Given the description of an element on the screen output the (x, y) to click on. 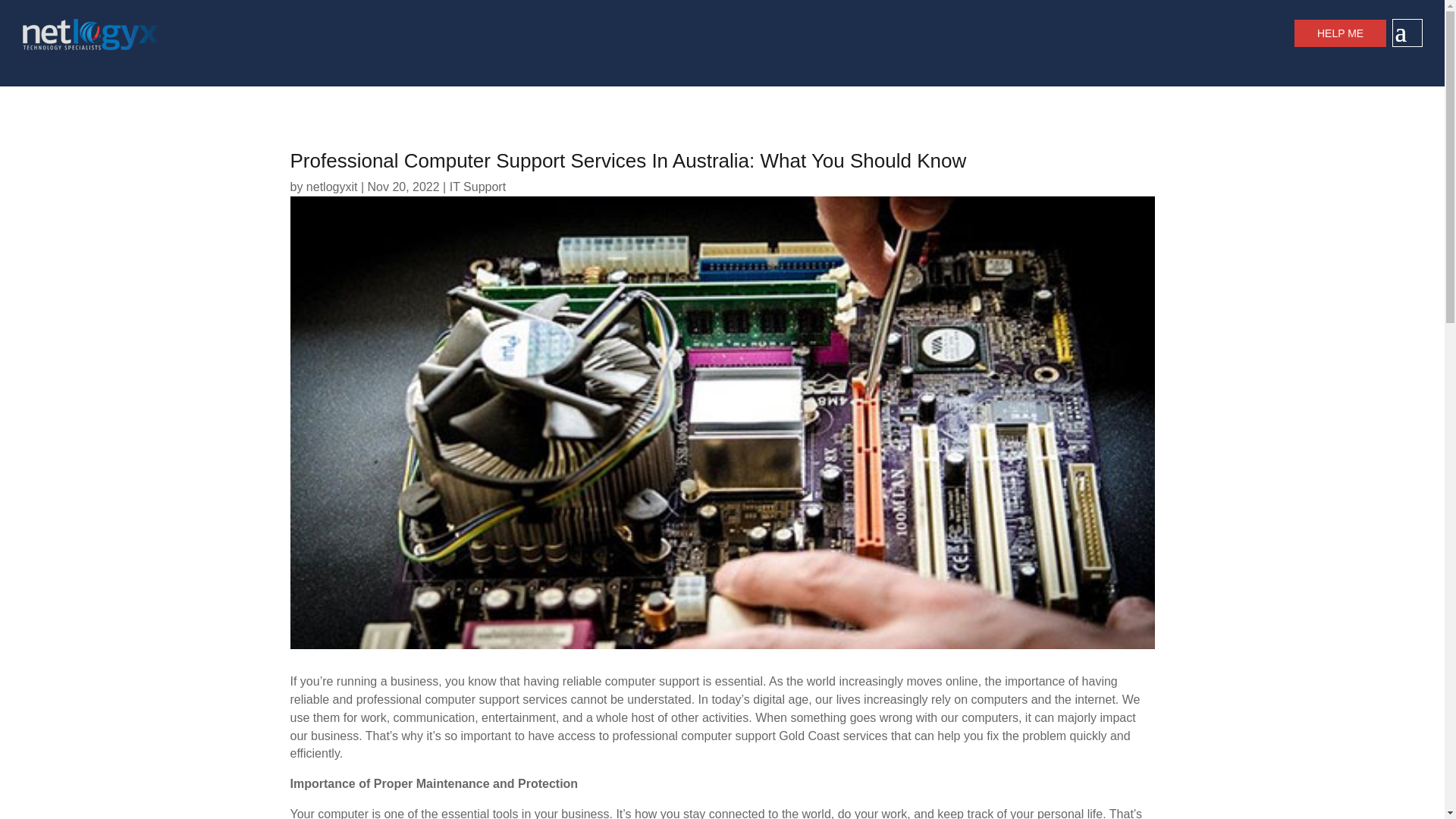
netlogyxit (331, 186)
Posts by netlogyxit (331, 186)
IT Support (477, 186)
